Given the description of an element on the screen output the (x, y) to click on. 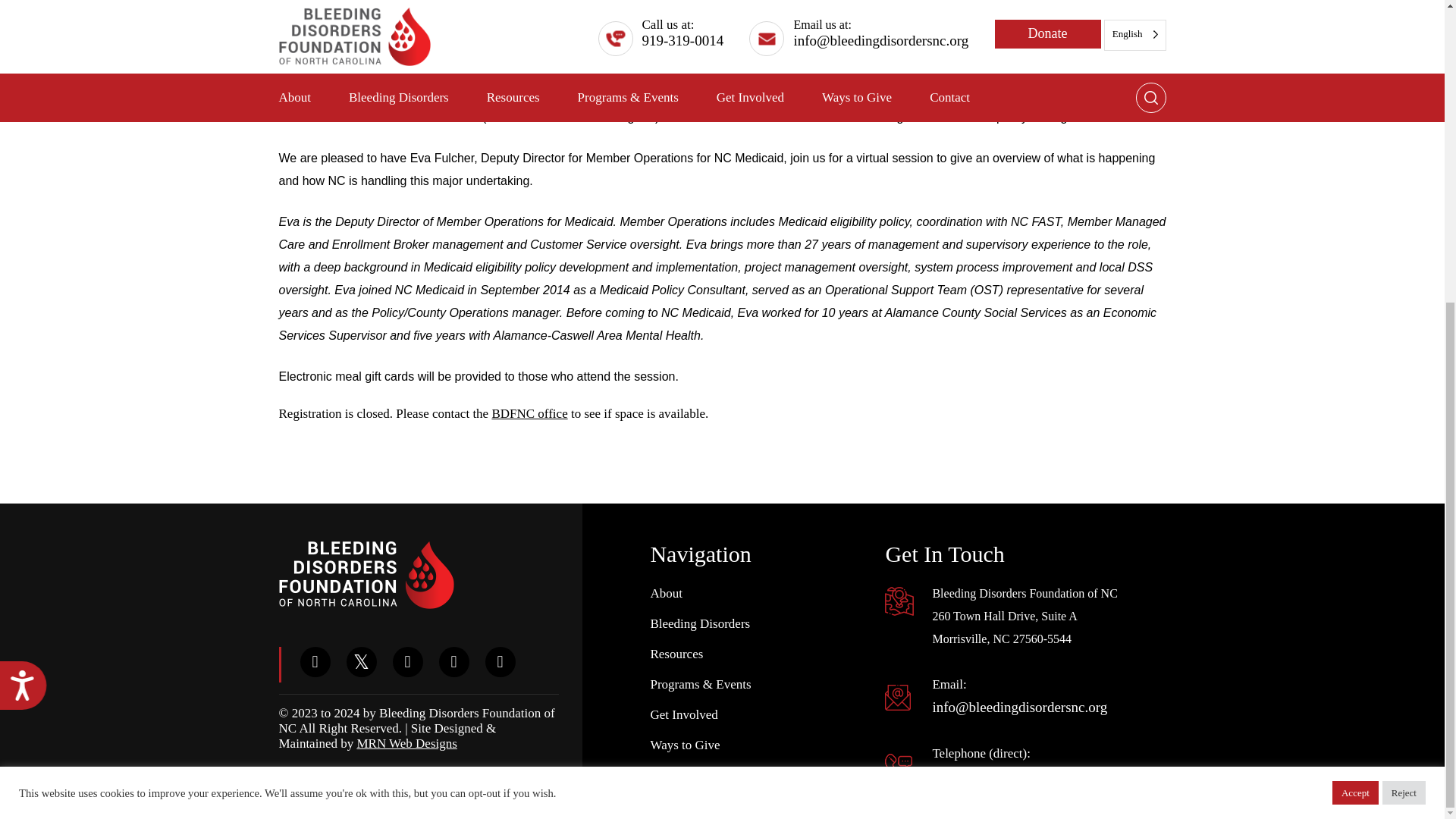
Accessibility (29, 219)
